Given the description of an element on the screen output the (x, y) to click on. 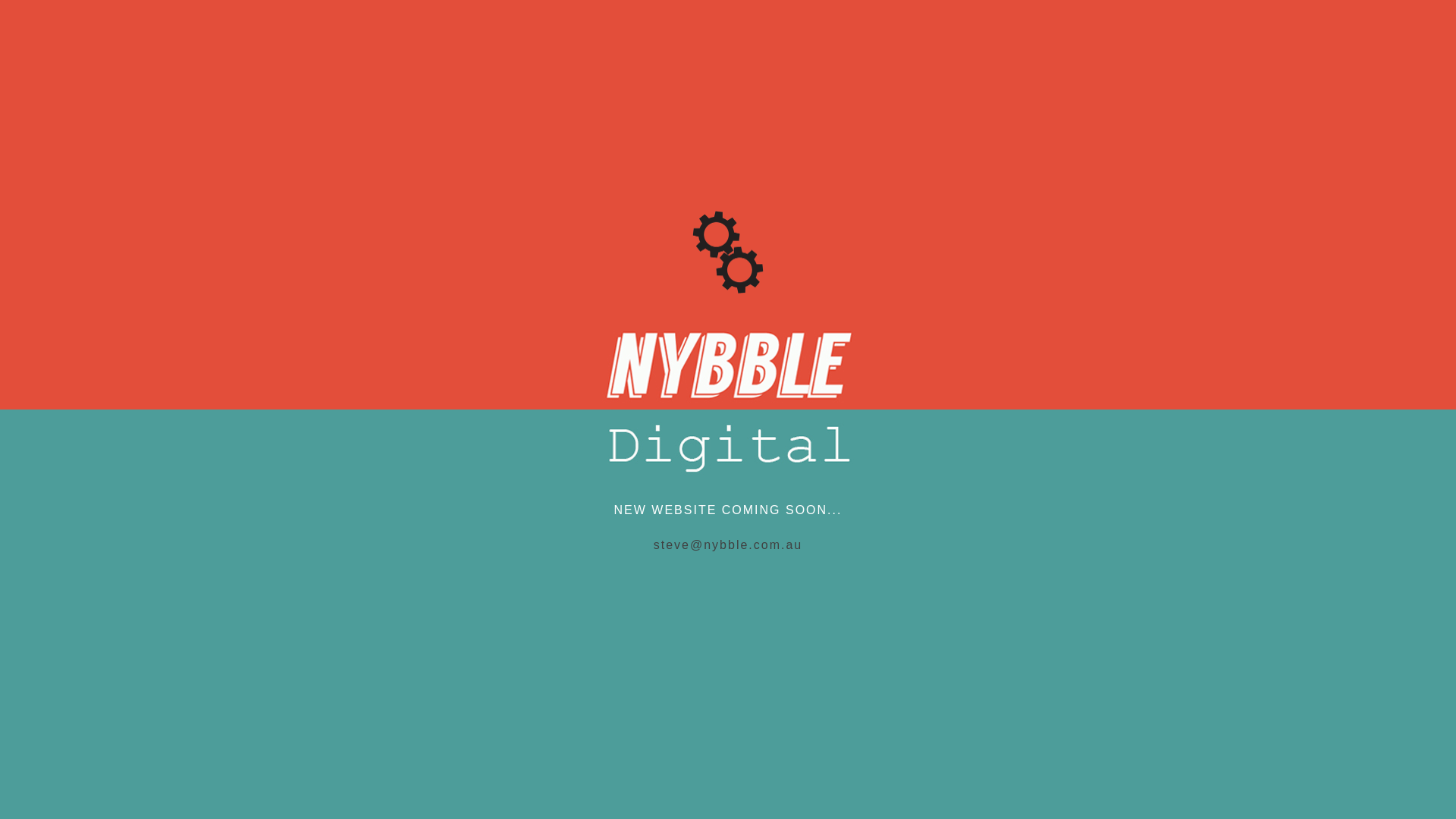
steve@nybble.com.au Element type: text (728, 544)
